Given the description of an element on the screen output the (x, y) to click on. 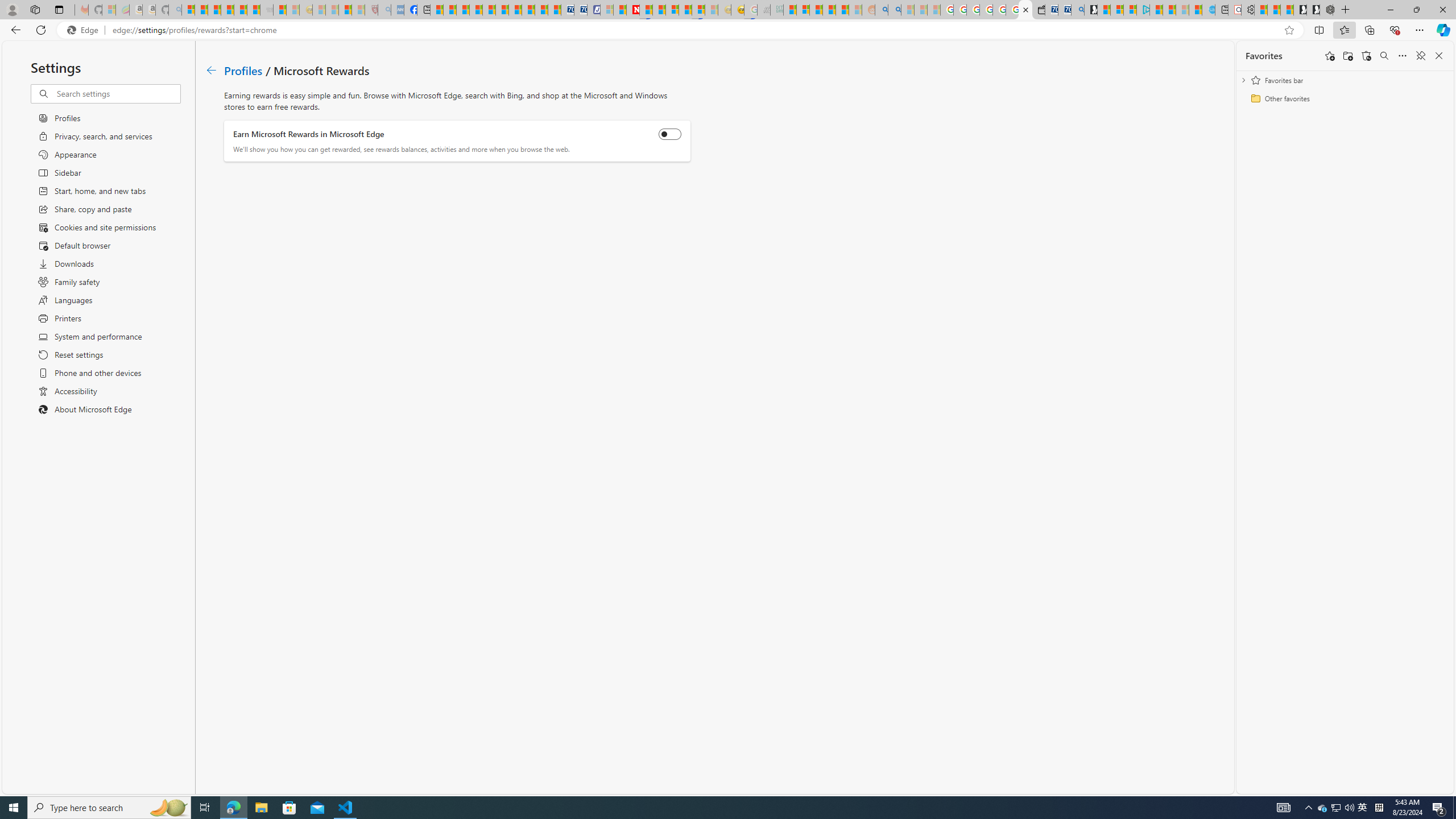
Search favorites (1383, 55)
Earn Microsoft Rewards in Microsoft Edge (669, 134)
Combat Siege - Sleeping (266, 9)
